Given the description of an element on the screen output the (x, y) to click on. 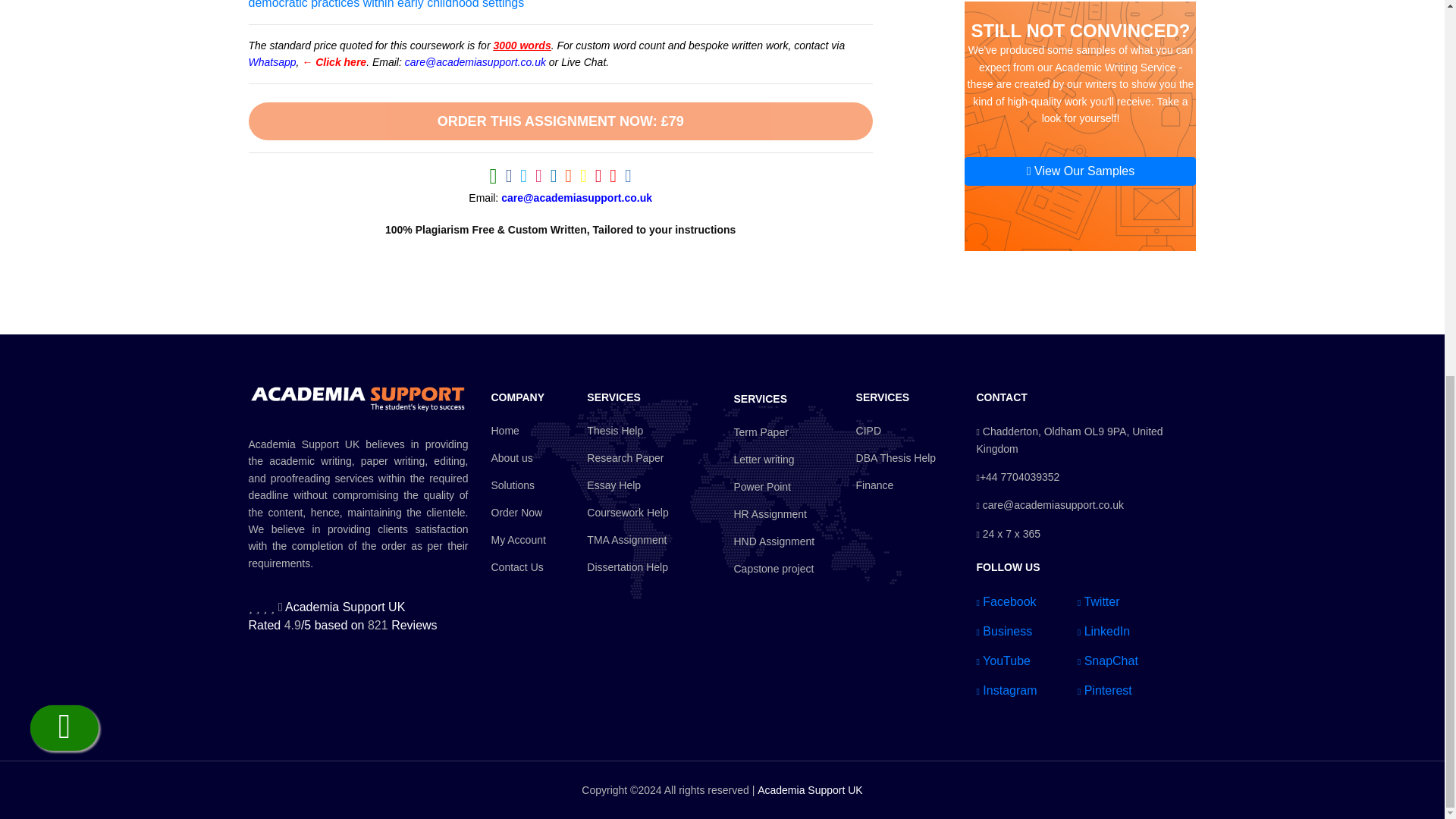
Reviews (413, 625)
Home (519, 430)
View Our Samples (1079, 171)
